Given the description of an element on the screen output the (x, y) to click on. 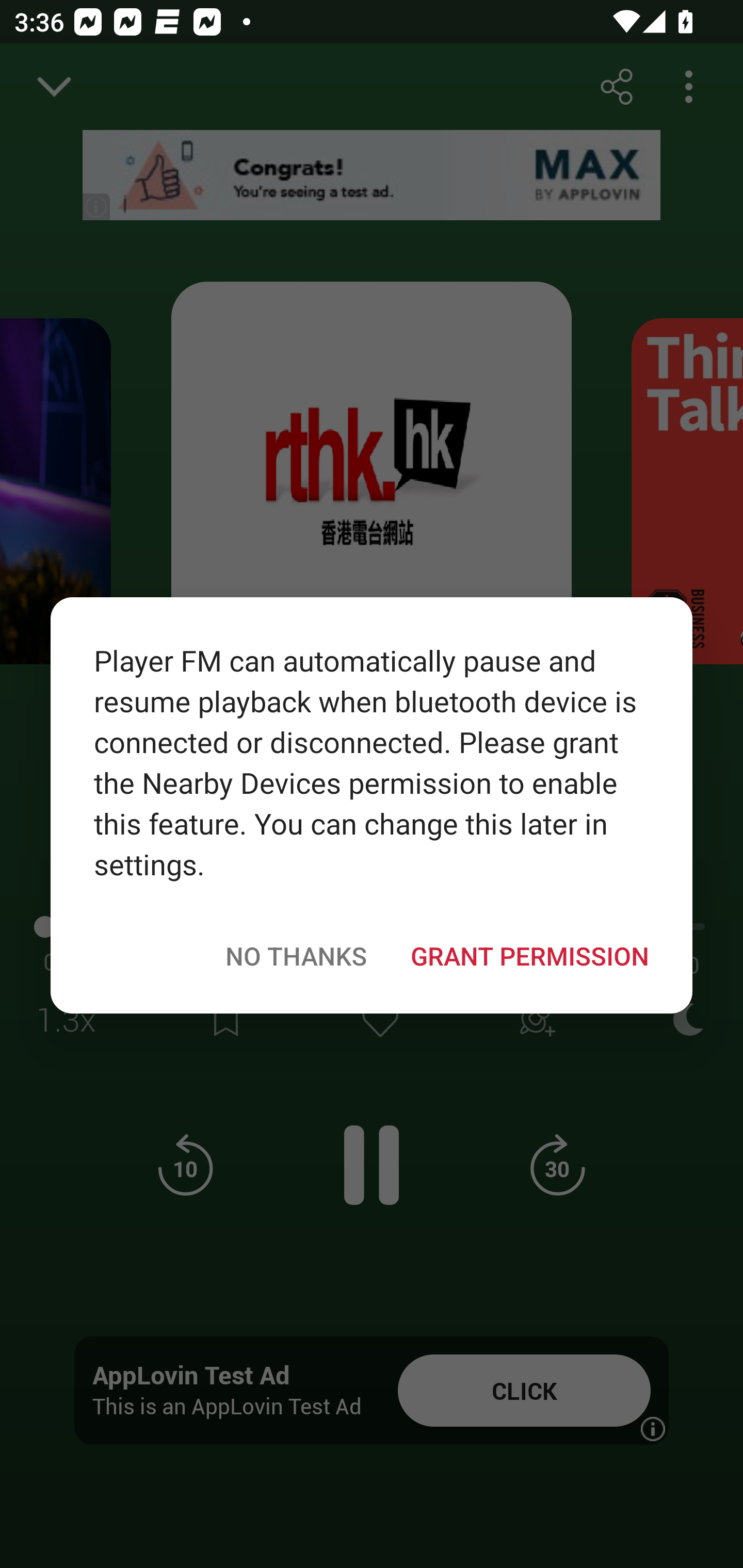
NO THANKS (295, 955)
GRANT PERMISSION (529, 955)
